Given the description of an element on the screen output the (x, y) to click on. 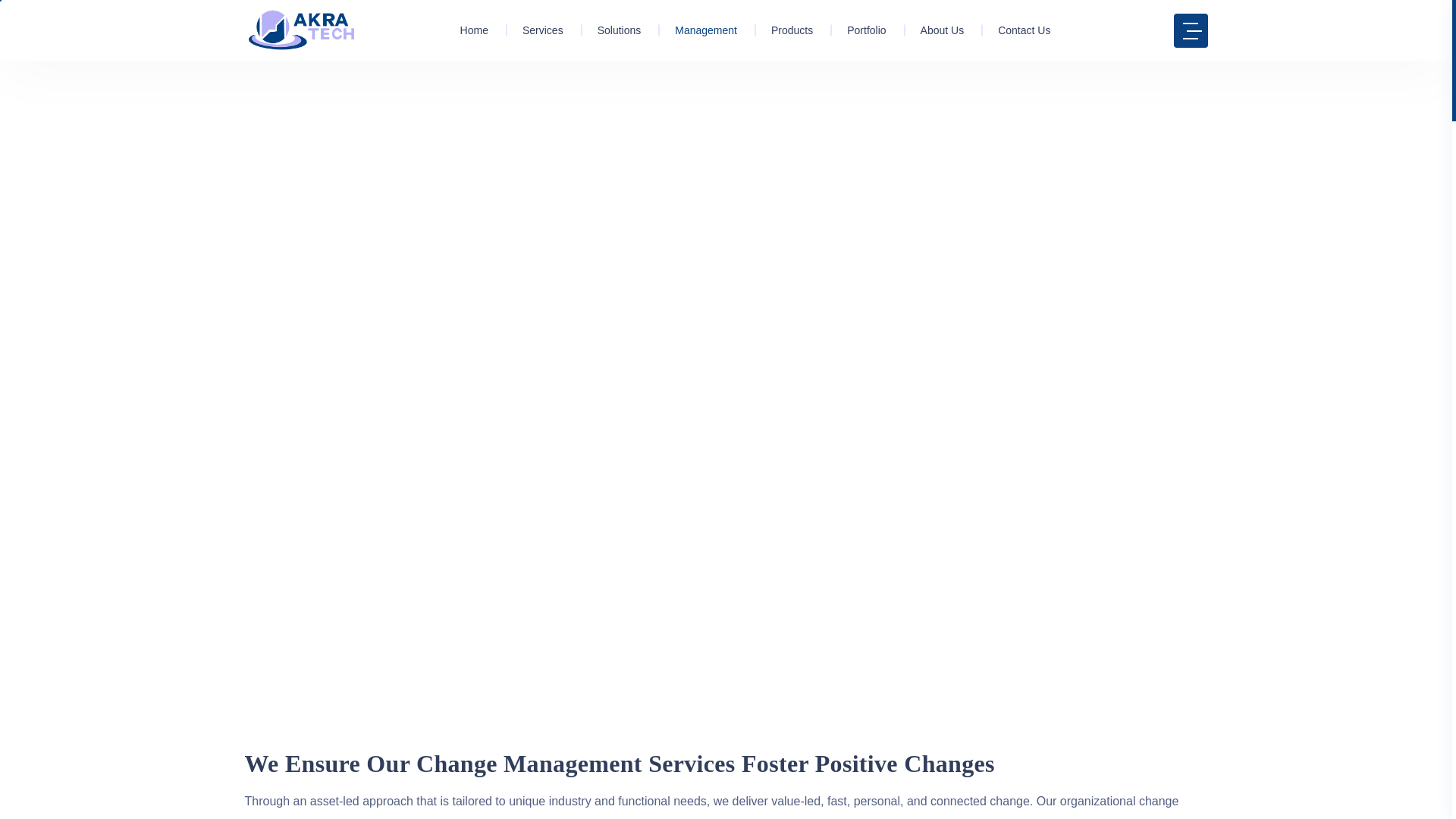
Services (537, 30)
Solutions (614, 30)
Home (473, 30)
Management (699, 30)
